Given the description of an element on the screen output the (x, y) to click on. 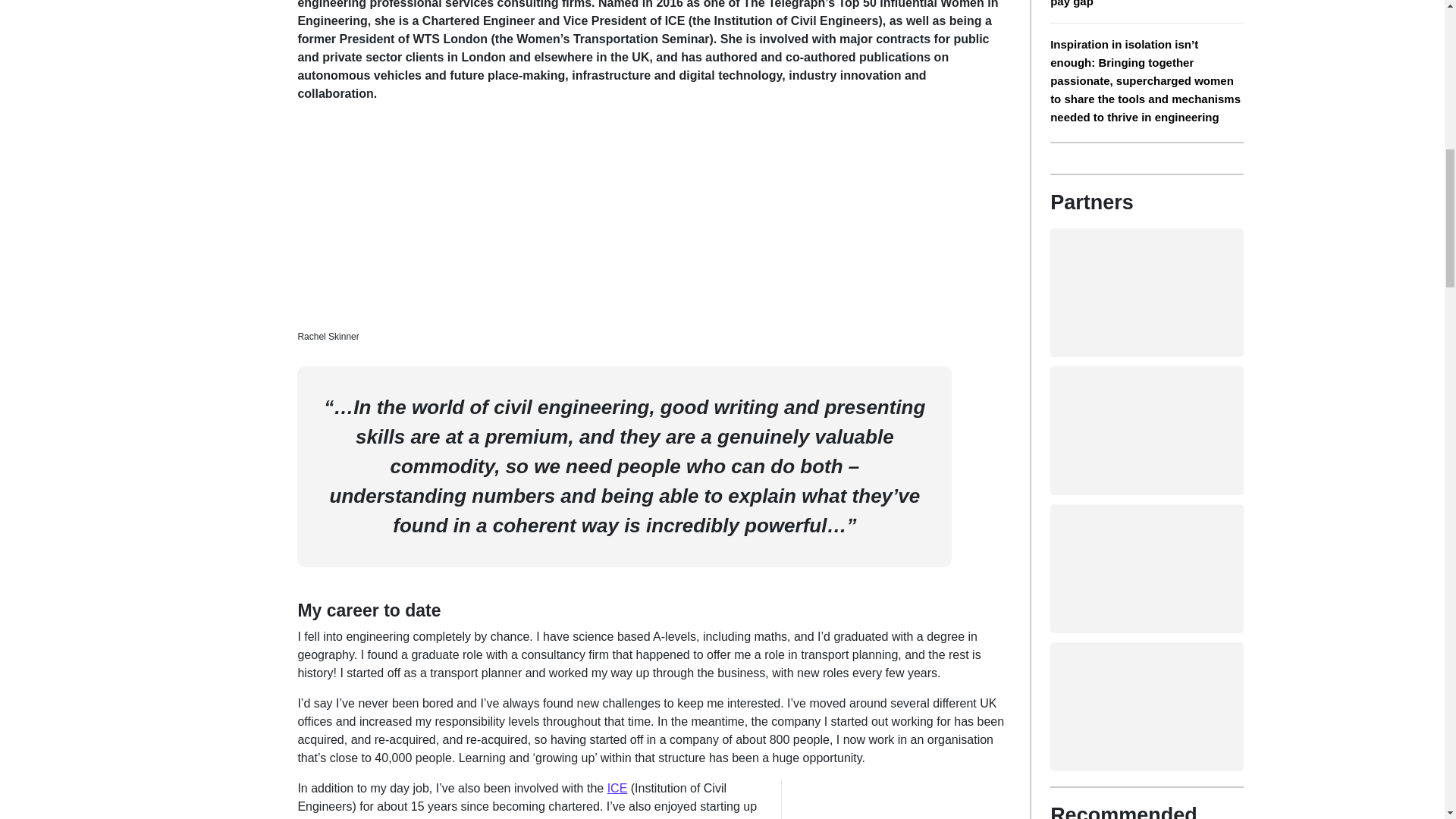
ICE (617, 788)
